Given the description of an element on the screen output the (x, y) to click on. 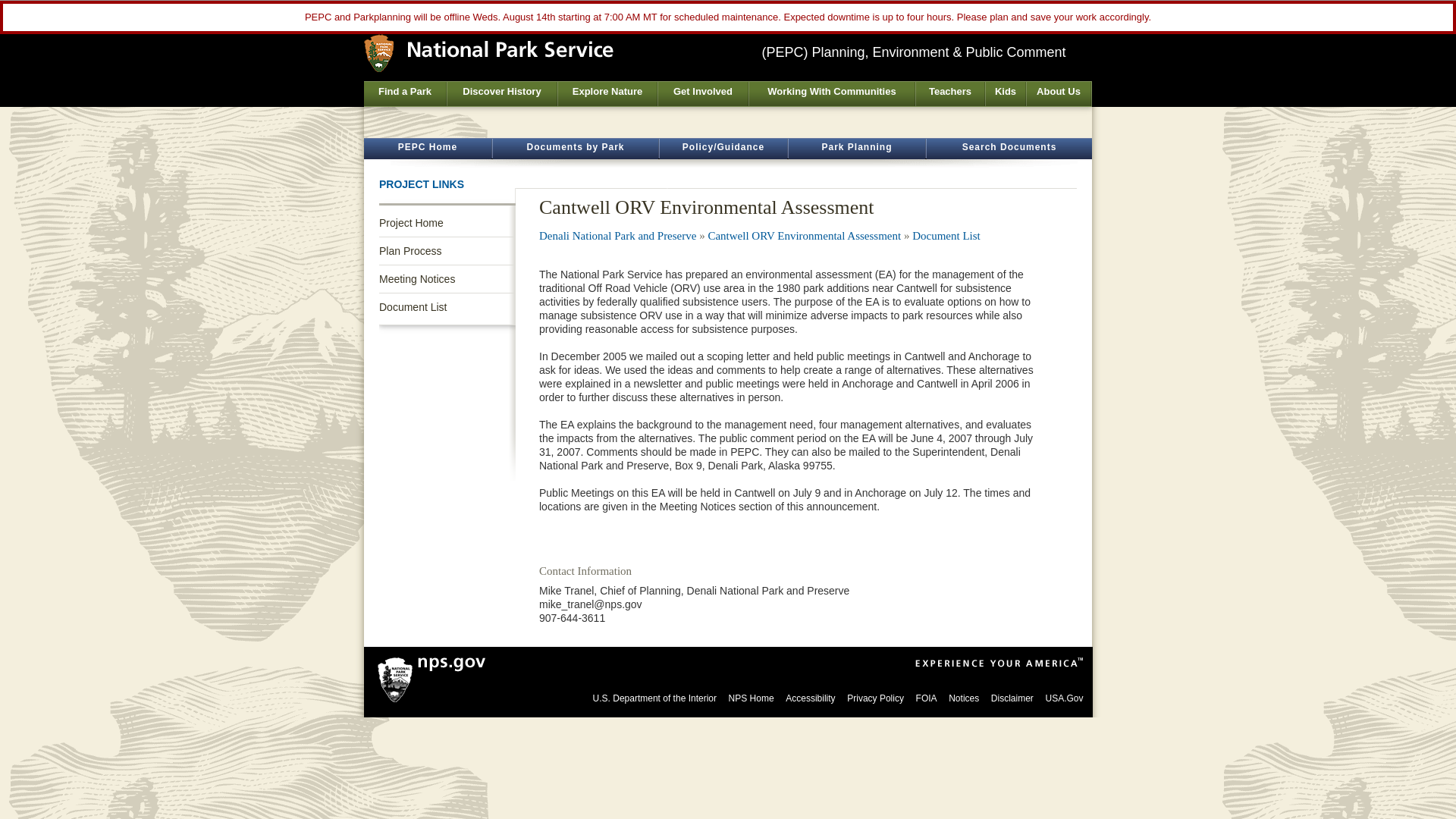
Disclaimer (1012, 697)
Search Documents (1009, 148)
Meeting Notices (446, 278)
Find projects by search (856, 148)
Documents by Park (575, 148)
Document List (945, 235)
Notices (963, 697)
Document List (945, 235)
Cantwell ORV Environmental Assessment (804, 235)
Find projects by park  (575, 148)
